Given the description of an element on the screen output the (x, y) to click on. 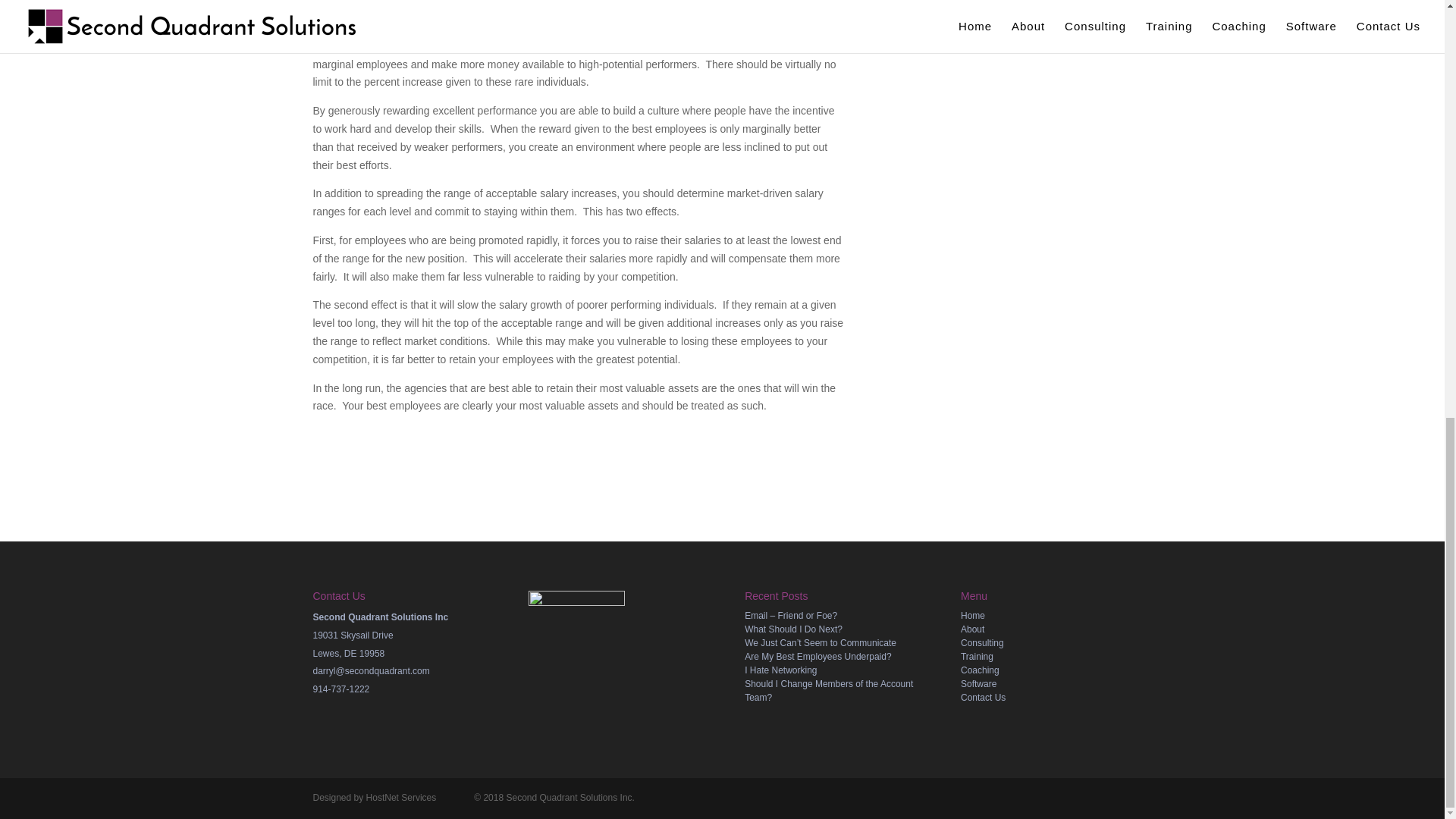
I Hate Networking (780, 670)
Consulting (982, 643)
Training (976, 656)
Should I Change Members of the Account Team? (828, 690)
Are My Best Employees Underpaid? (817, 656)
Coaching (979, 670)
Home (972, 615)
Software (977, 683)
About (972, 629)
Contact Us (983, 697)
What Should I Do Next? (793, 629)
